Given the description of an element on the screen output the (x, y) to click on. 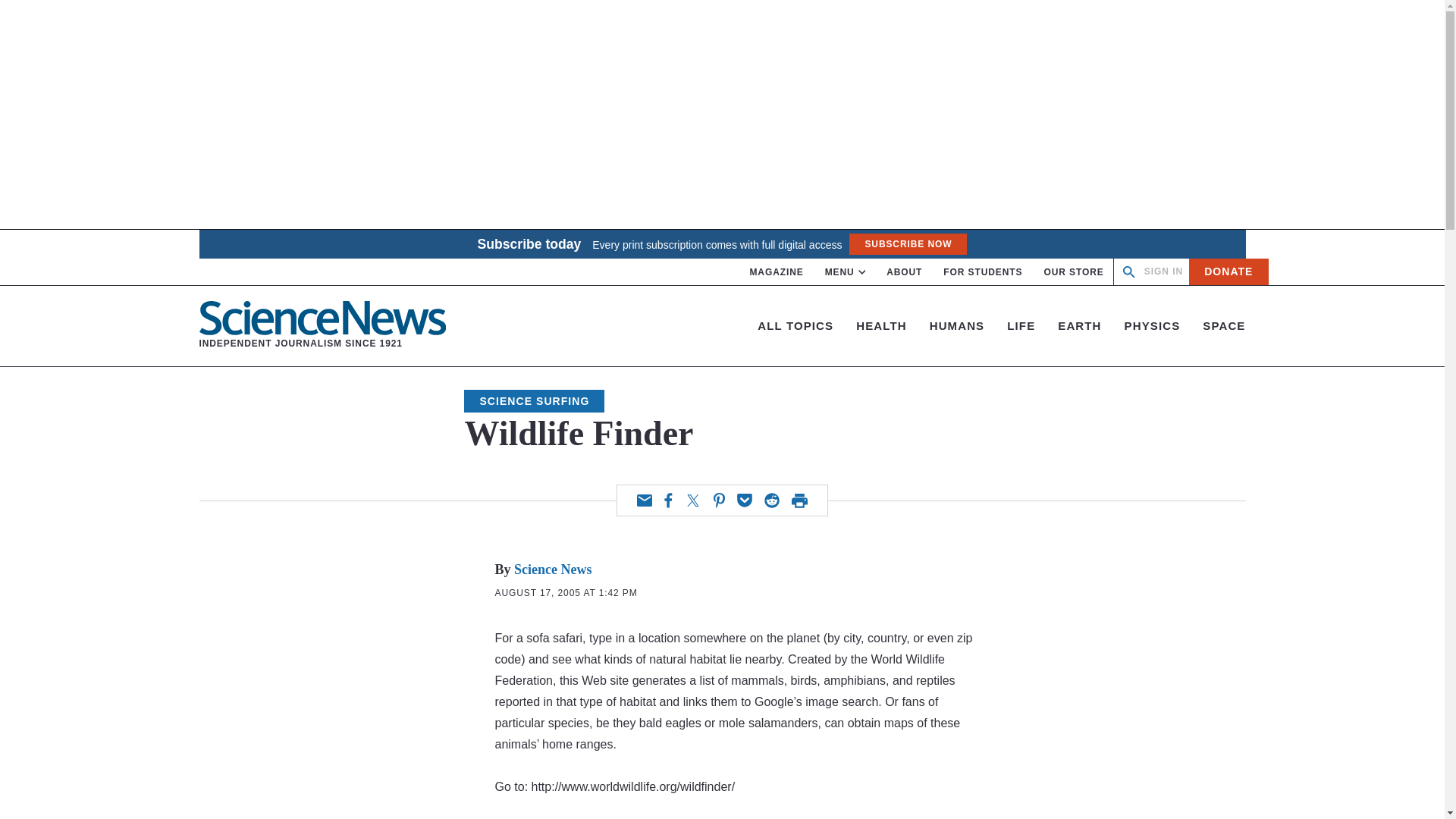
FOR STUDENTS (982, 271)
Open search (1128, 271)
ABOUT (903, 271)
MAGAZINE (776, 271)
MENU (845, 271)
DONATE (321, 326)
Share via email (1228, 271)
SUBSCRIBE NOW (644, 500)
ALL TOPICS (907, 243)
SIGN IN (794, 325)
OUR STORE (1163, 271)
